Given the description of an element on the screen output the (x, y) to click on. 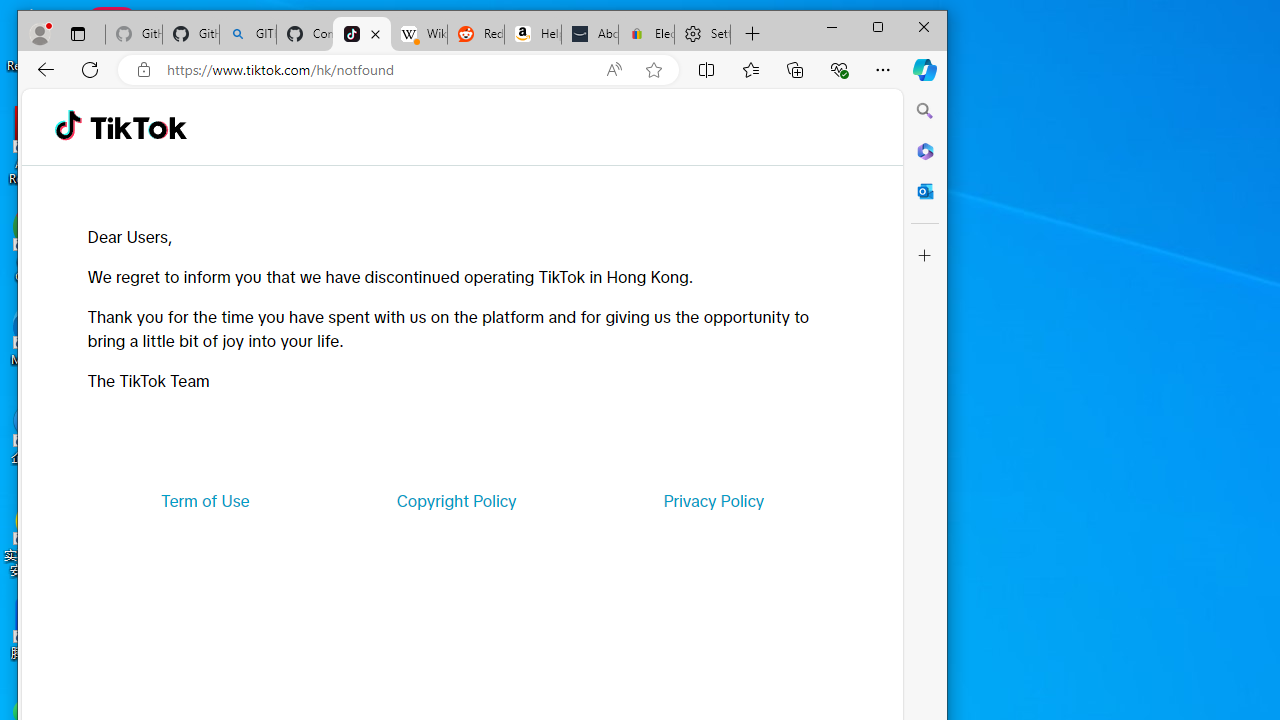
TikTok (362, 34)
Copyright Policy (456, 500)
Wikipedia, the free encyclopedia (418, 34)
TikTok (138, 126)
Term of Use (205, 500)
About Amazon (589, 34)
